Given the description of an element on the screen output the (x, y) to click on. 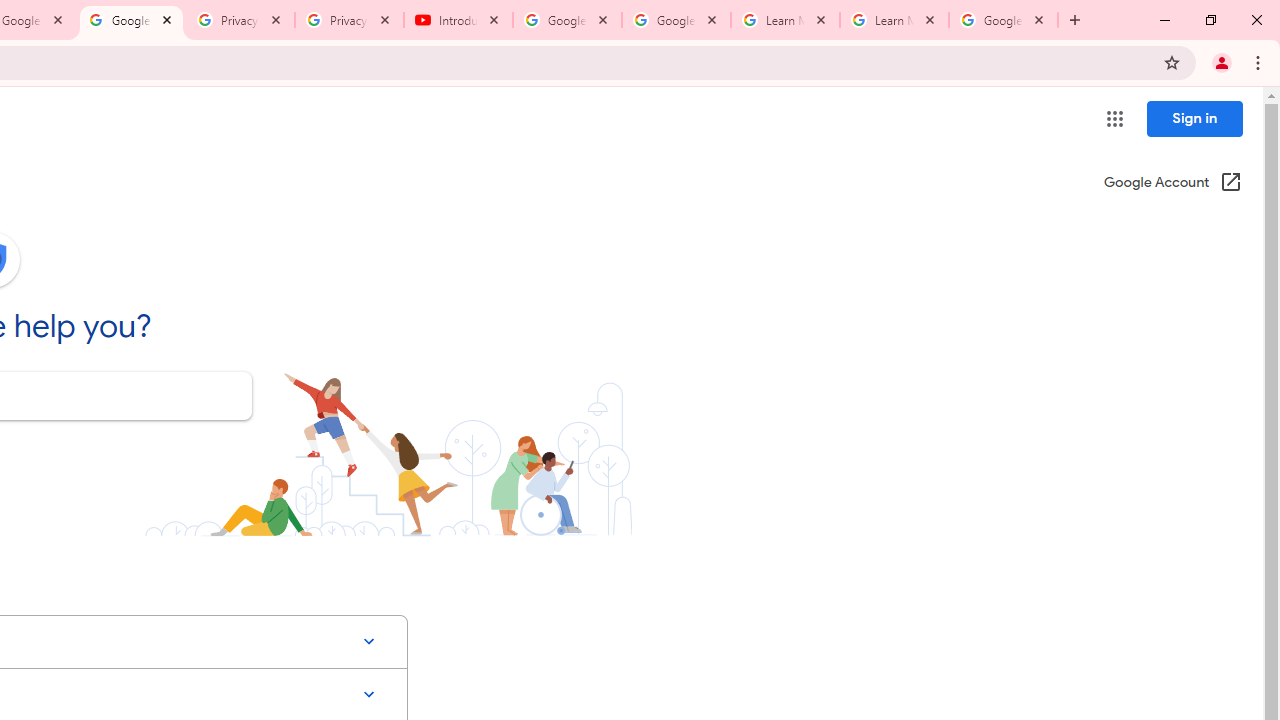
Google Account Help (567, 20)
Google Account Help (130, 20)
